Given the description of an element on the screen output the (x, y) to click on. 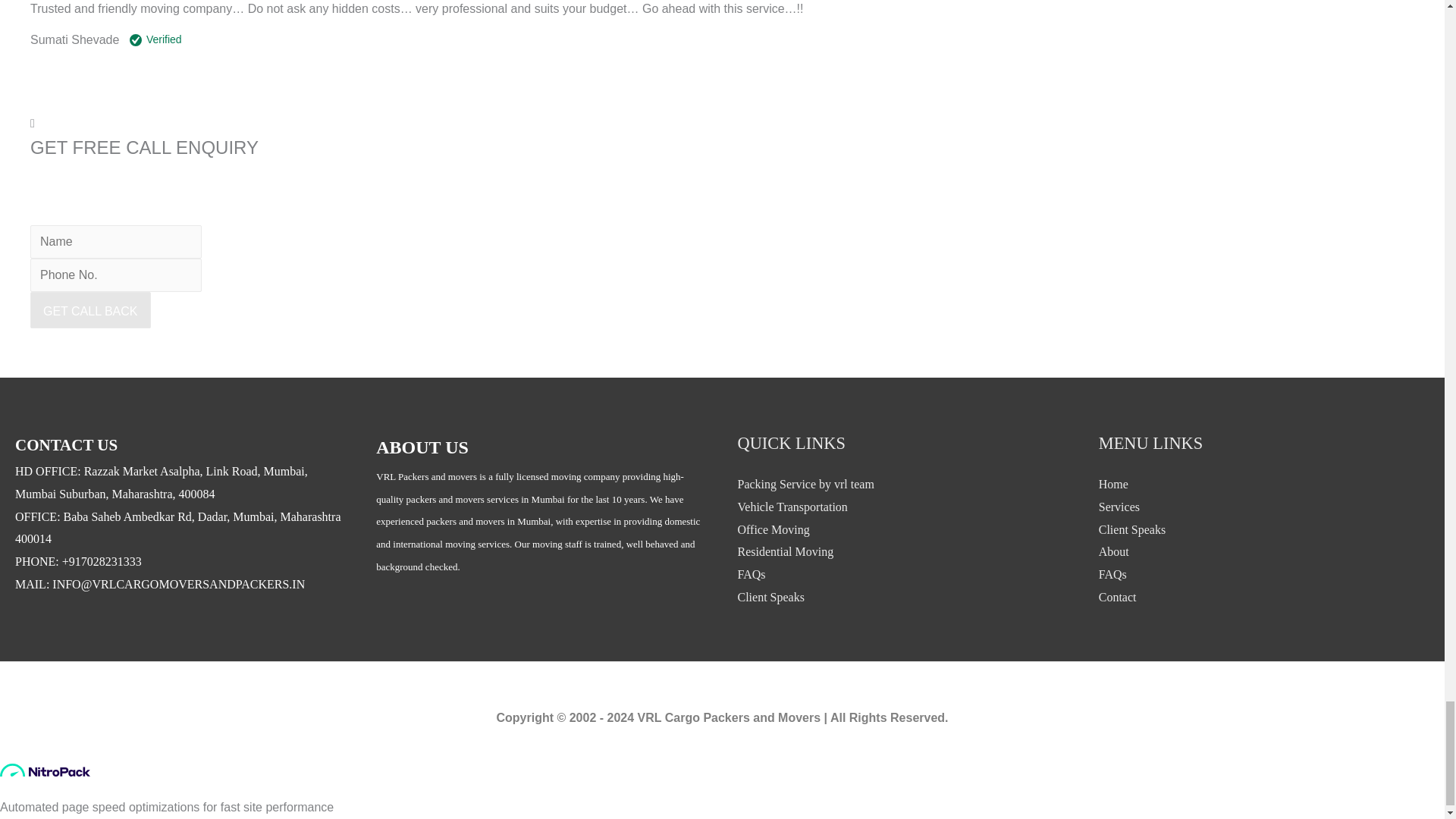
GET CALL BACK (90, 309)
Packing Service by vrl team (804, 483)
Office Moving (772, 529)
Vehicle Transportation (791, 506)
